Given the description of an element on the screen output the (x, y) to click on. 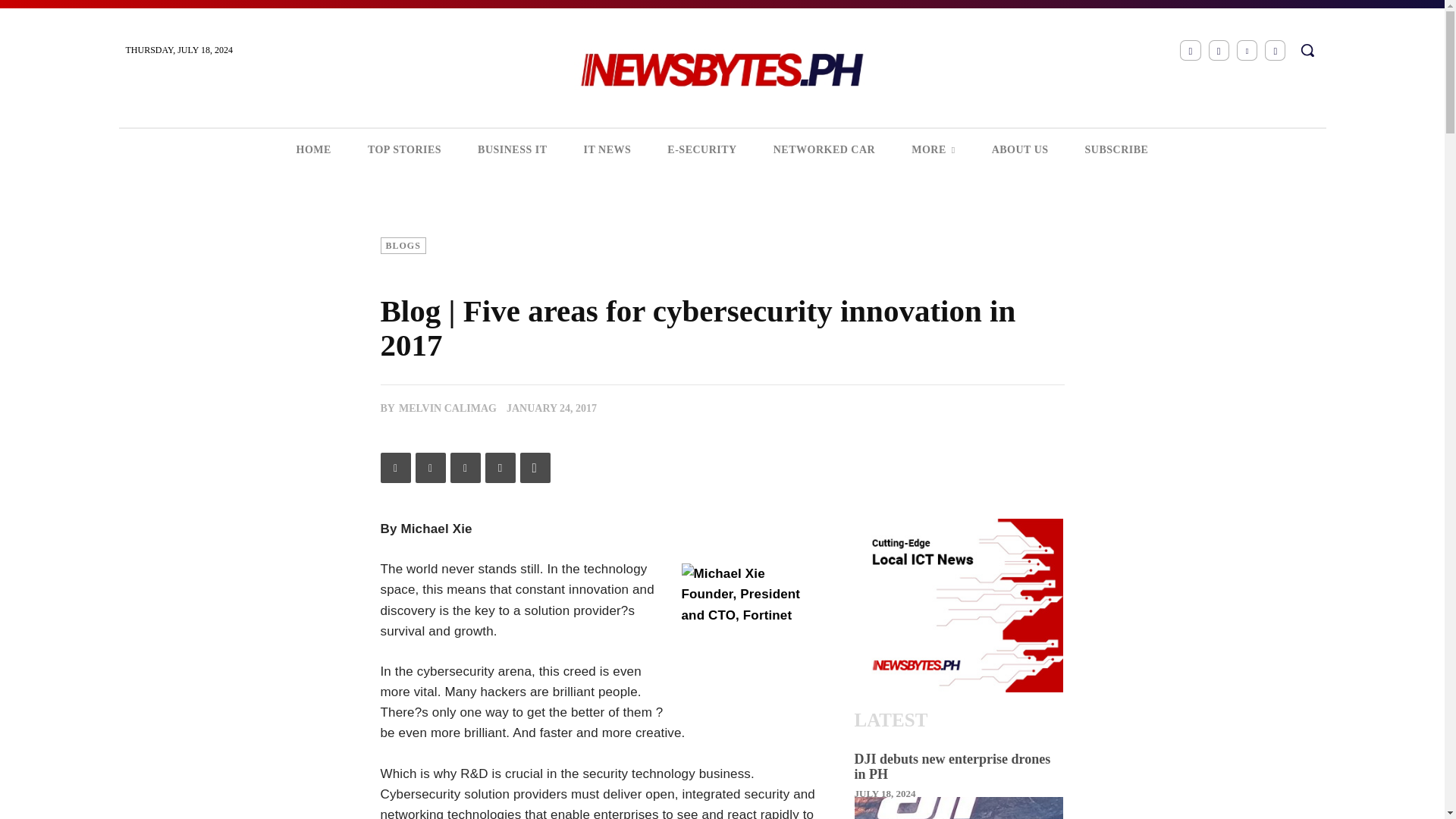
E-SECURITY (701, 149)
Linkedin (464, 467)
Copy URL (534, 467)
Twitter (429, 467)
NETWORKED CAR (824, 149)
Linkedin (1246, 50)
Facebook (1189, 50)
HOME (313, 149)
IT NEWS (607, 149)
Twitter (1275, 50)
TOP STORIES (404, 149)
BUSINESS IT (513, 149)
Email (499, 467)
Instagram (1218, 50)
Facebook (395, 467)
